Given the description of an element on the screen output the (x, y) to click on. 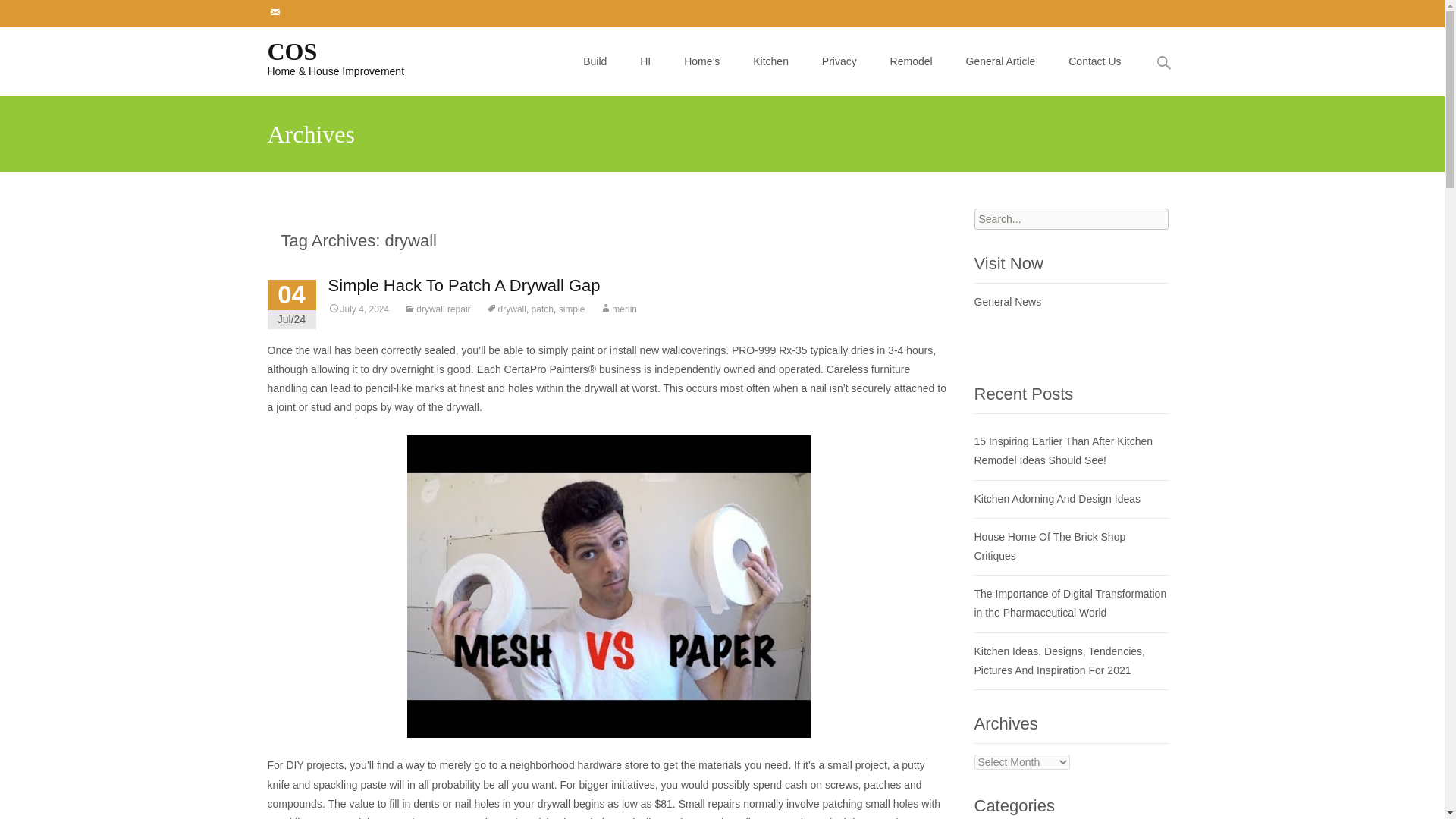
simple (572, 308)
Permalink to Simple Hack To Patch A Drywall Gap (357, 308)
Simple Hack To Patch A Drywall Gap (463, 285)
drywall repair (437, 308)
Search (18, 14)
COS (323, 57)
Search for: (1163, 62)
General Article (1000, 61)
July 4, 2024 (357, 308)
Skip to content (603, 36)
